Given the description of an element on the screen output the (x, y) to click on. 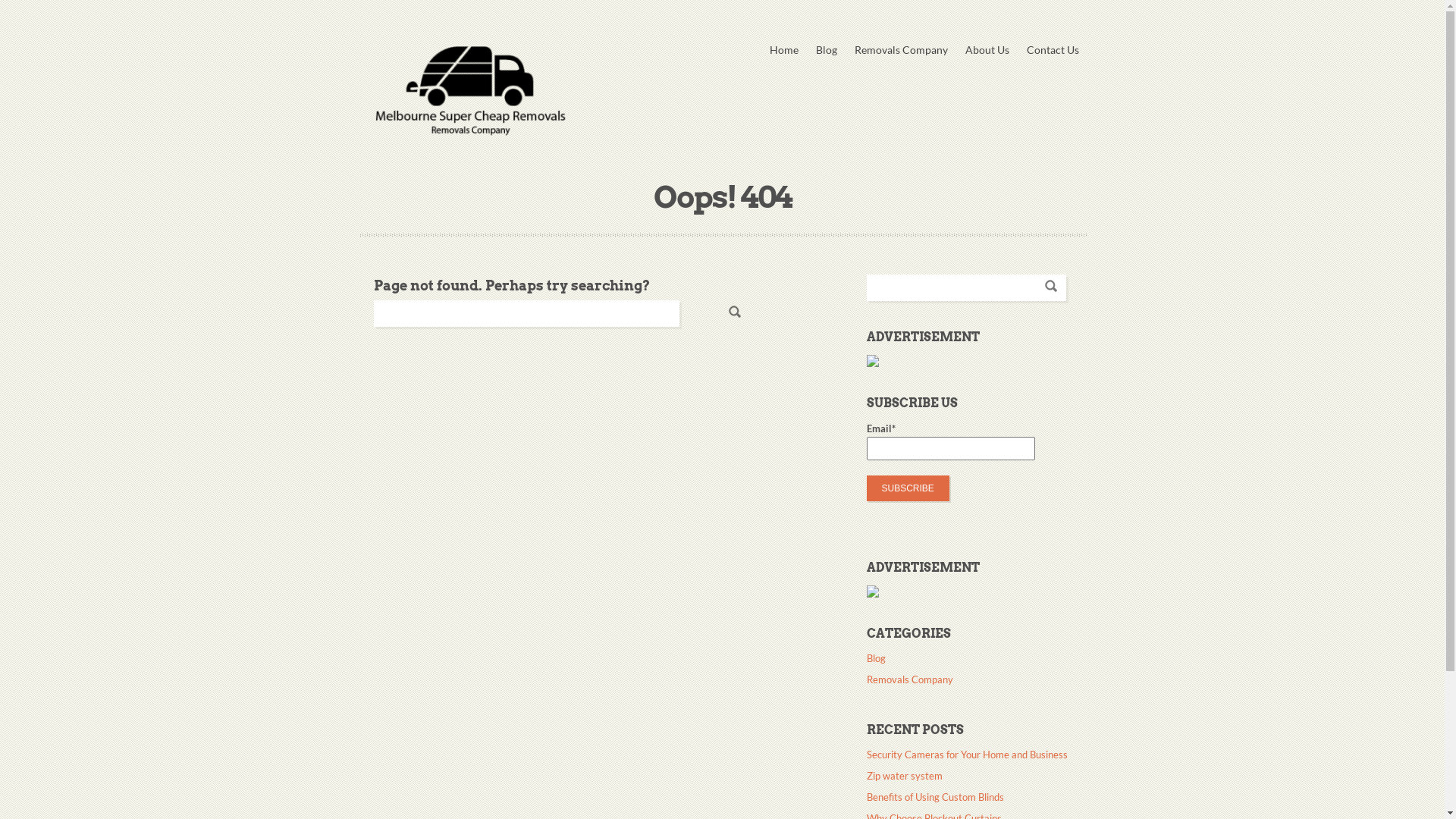
Zip water system Element type: text (903, 777)
Home Element type: text (783, 49)
Removals Company Element type: text (900, 49)
Benefits of Using Custom Blinds Element type: text (934, 798)
Blog Element type: text (826, 49)
Contact Us Element type: text (1052, 49)
Blog Element type: text (875, 659)
Search Element type: text (1050, 285)
About Us Element type: text (986, 49)
Subscribe Element type: text (907, 488)
Search Element type: text (734, 311)
Security Cameras for Your Home and Business Element type: text (966, 756)
Removals Company Element type: text (909, 681)
